Given the description of an element on the screen output the (x, y) to click on. 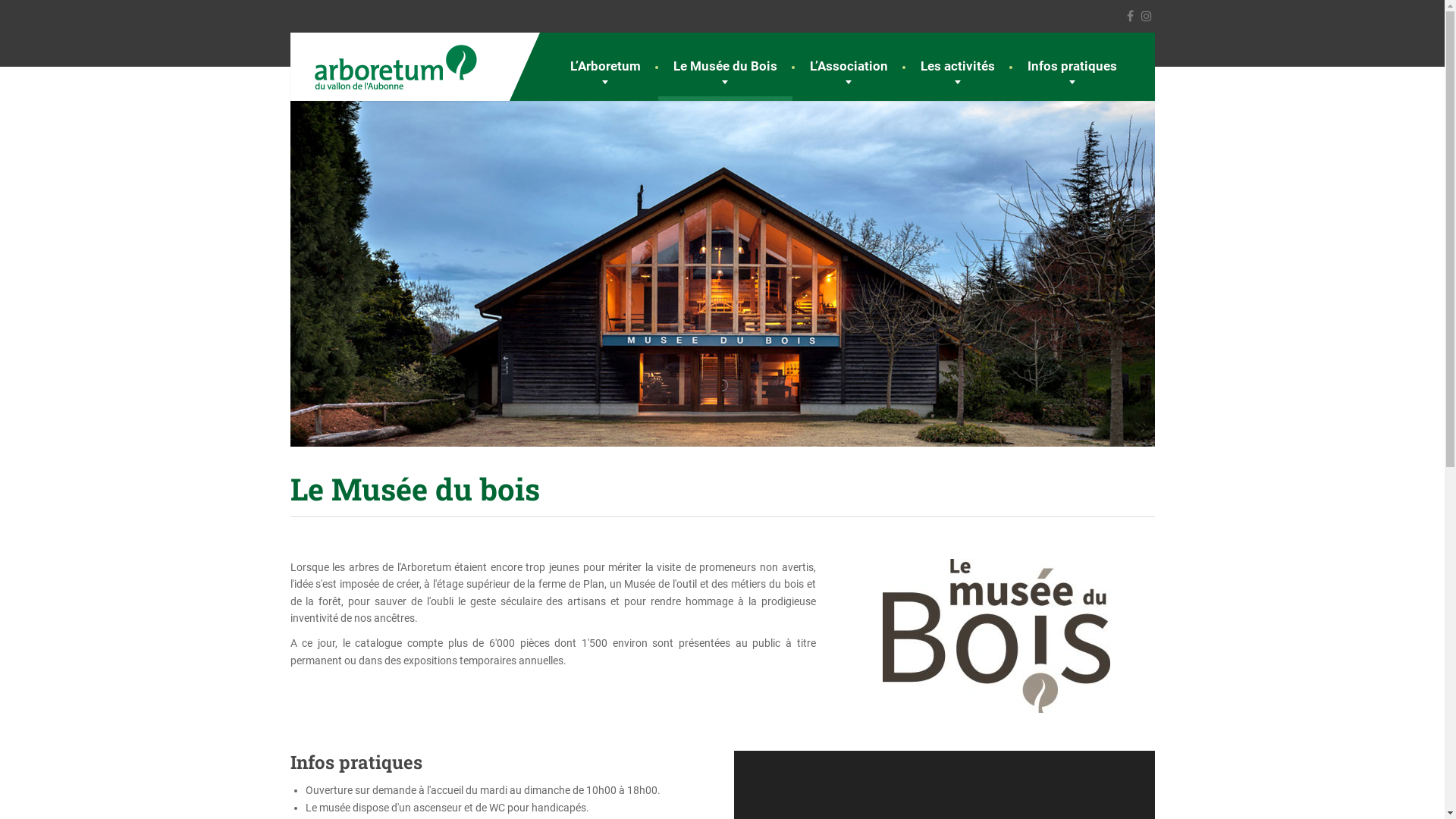
logo_museebois Element type: hover (996, 635)
L'Arboretum du Vallon de l'Aubonne Element type: hover (414, 66)
Infos pratiques Element type: text (1071, 66)
